Given the description of an element on the screen output the (x, y) to click on. 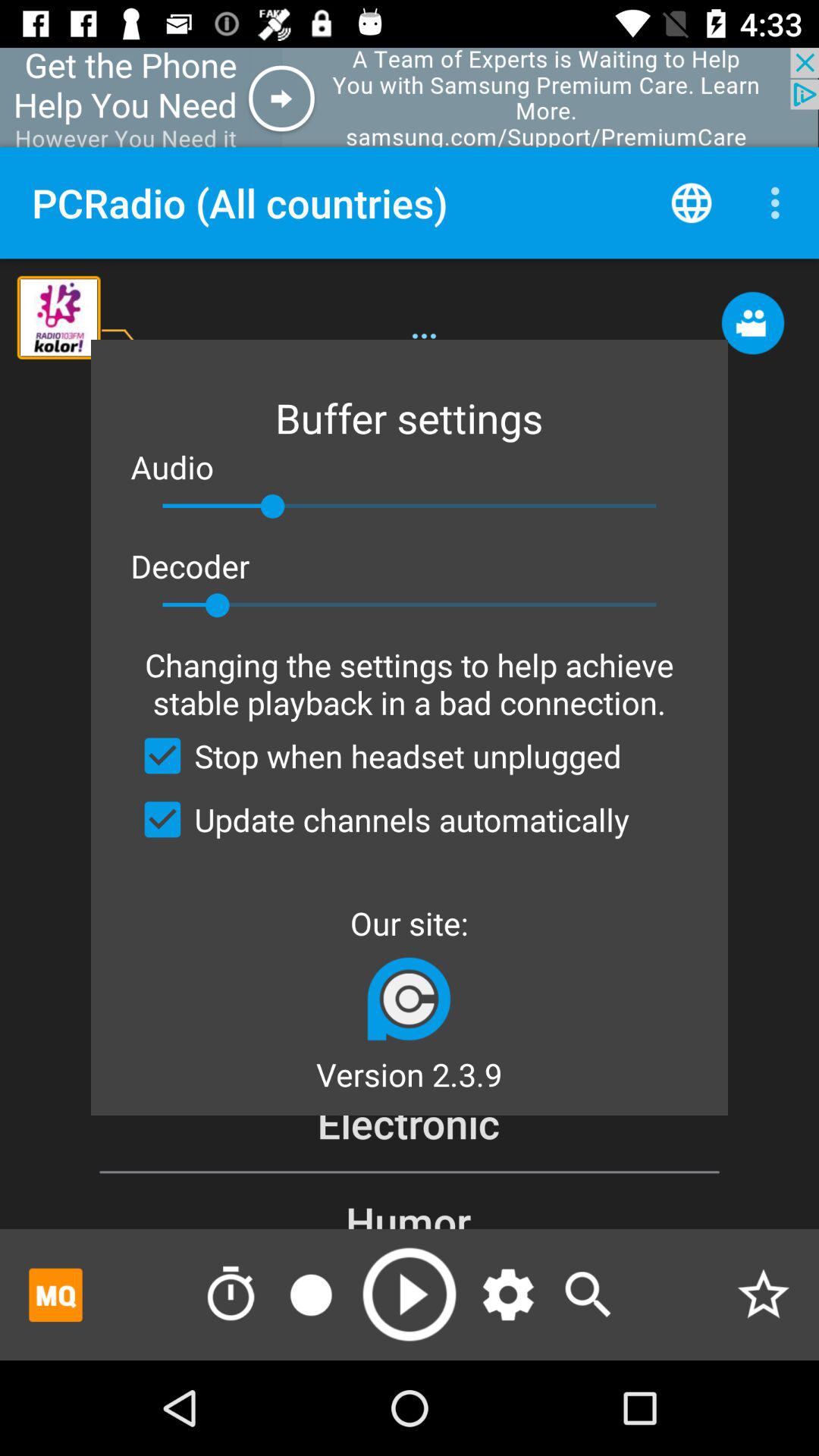
tap app below our site: icon (408, 998)
